Given the description of an element on the screen output the (x, y) to click on. 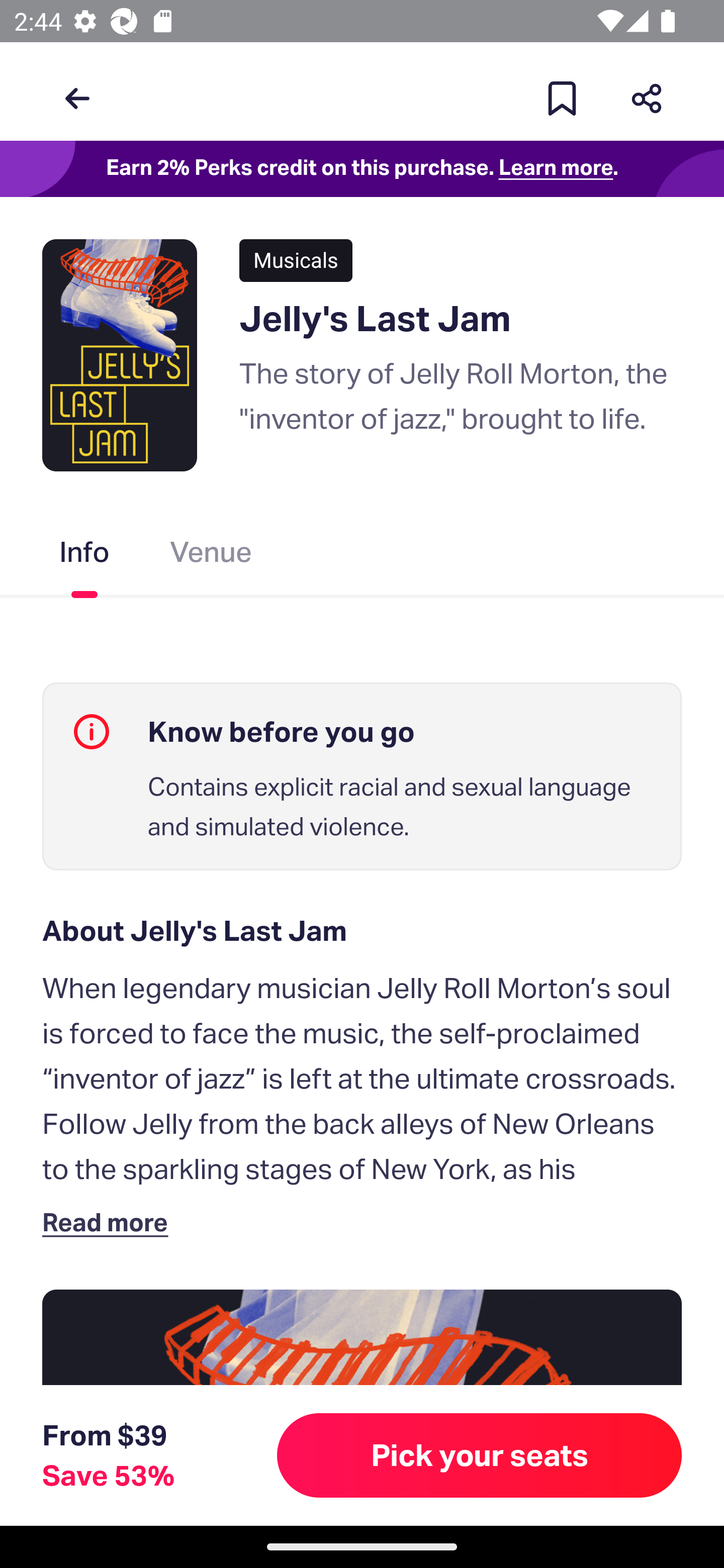
Earn 2% Perks credit on this purchase. Learn more. (362, 169)
Venue (210, 555)
About Jelly's Last Jam (361, 930)
Read more (109, 1222)
Pick your seats (479, 1454)
